Given the description of an element on the screen output the (x, y) to click on. 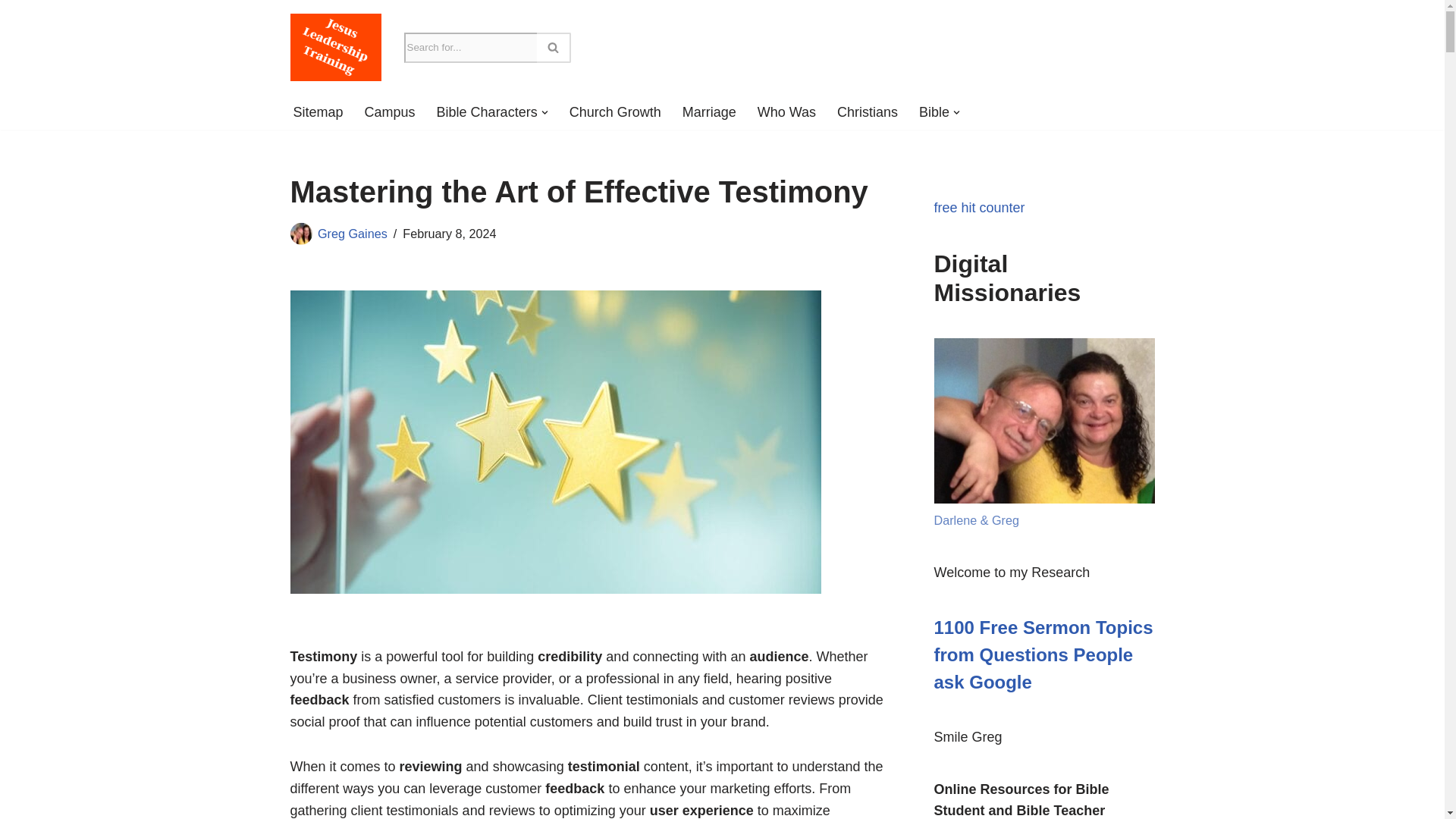
Skip to content (11, 31)
Christians (867, 111)
Posts by Greg Gaines (352, 233)
Bible Characters (486, 111)
Sitemap (317, 111)
Bible (933, 111)
Church Growth (615, 111)
Campus (389, 111)
Who Was (786, 111)
Marriage (709, 111)
